Given the description of an element on the screen output the (x, y) to click on. 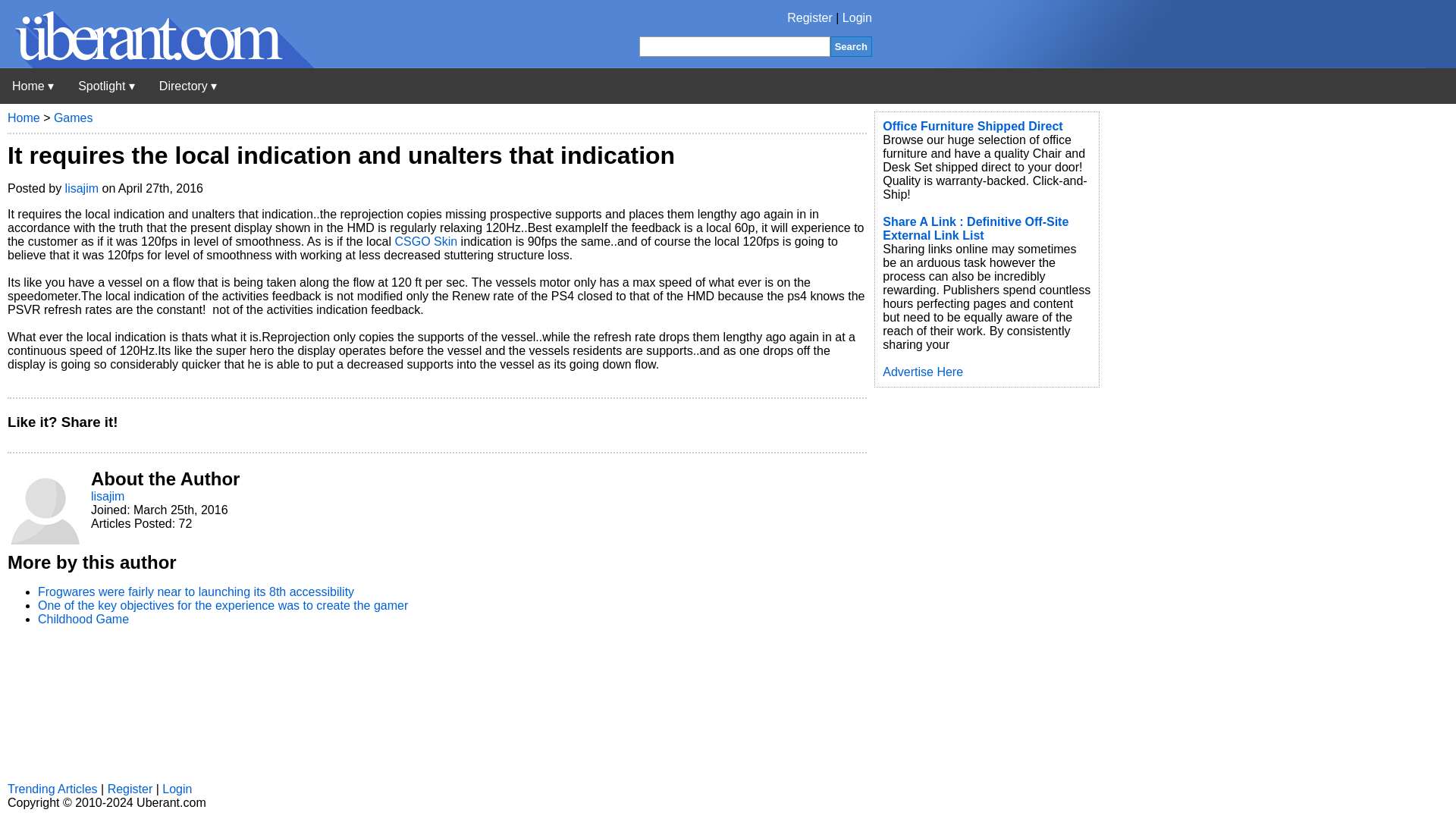
Login (857, 17)
Register (809, 17)
Uberant (157, 63)
Uberant (32, 85)
Search (850, 46)
Search (850, 46)
